Given the description of an element on the screen output the (x, y) to click on. 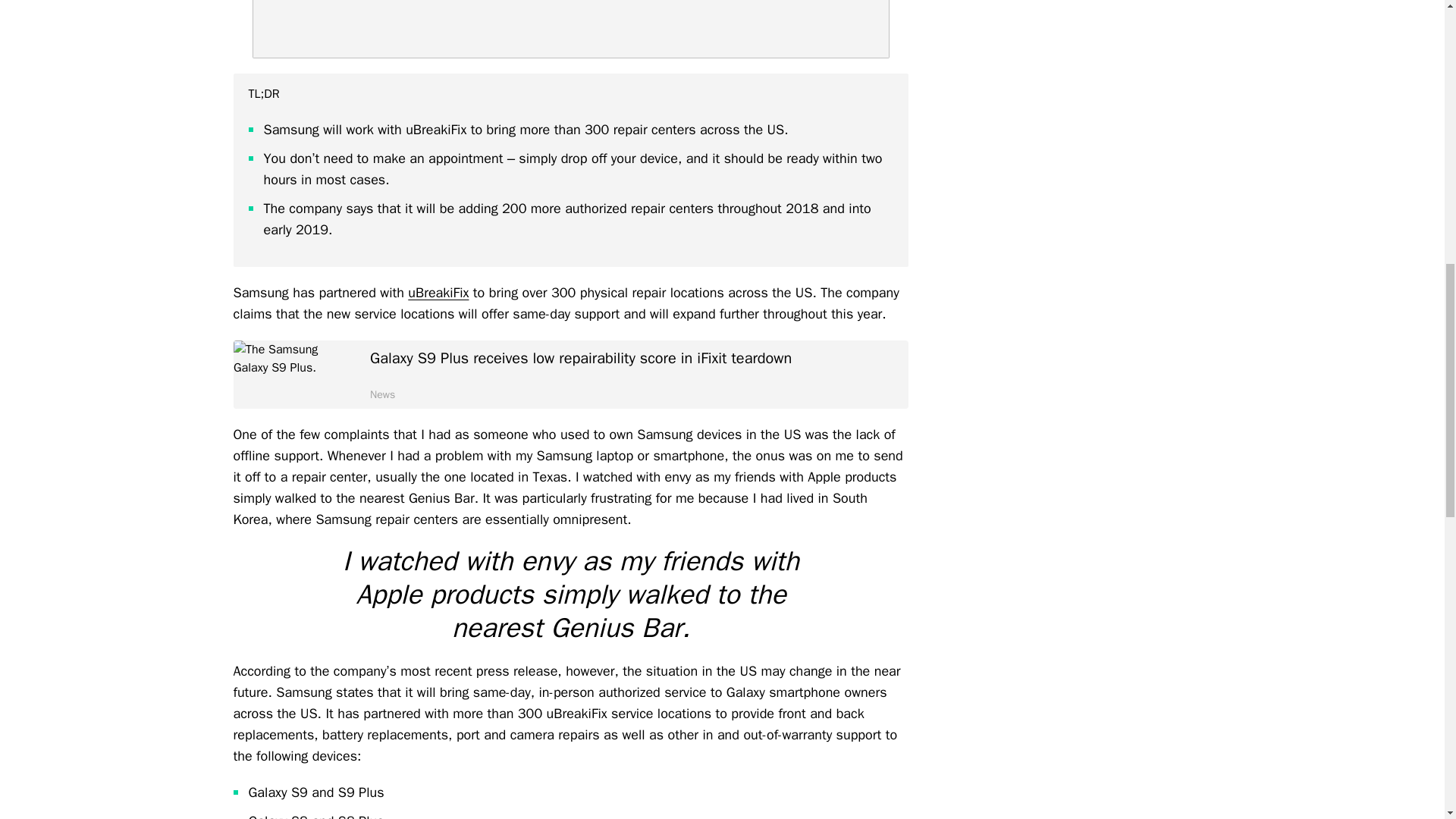
uBreakiFix (437, 292)
Samsung Logo from CES FirstLook 2018-2 (569, 29)
